Given the description of an element on the screen output the (x, y) to click on. 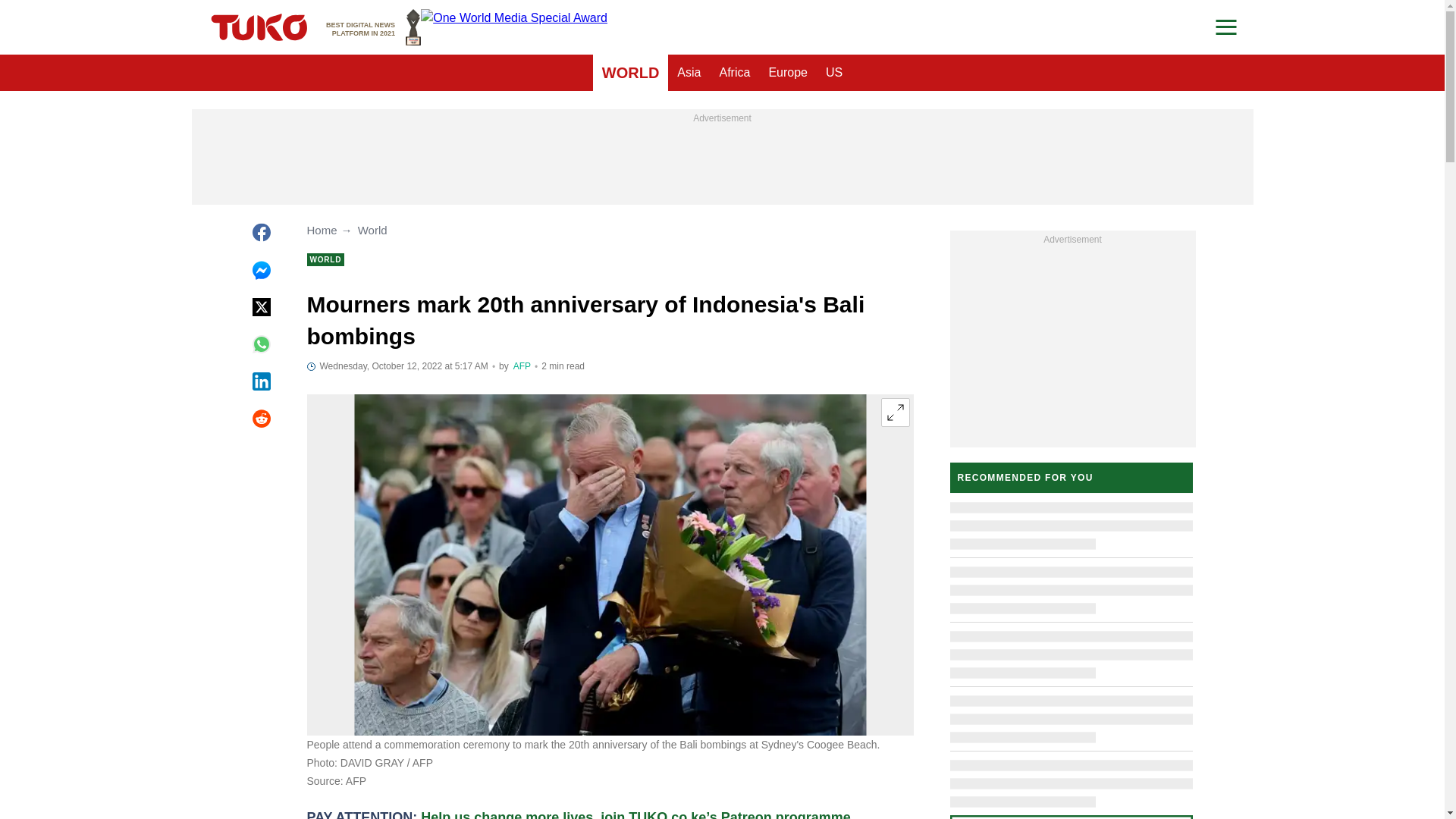
US (833, 72)
Author page (373, 27)
Expand image (522, 366)
WORLD (895, 412)
Asia (630, 72)
Europe (689, 72)
Africa (787, 72)
